Given the description of an element on the screen output the (x, y) to click on. 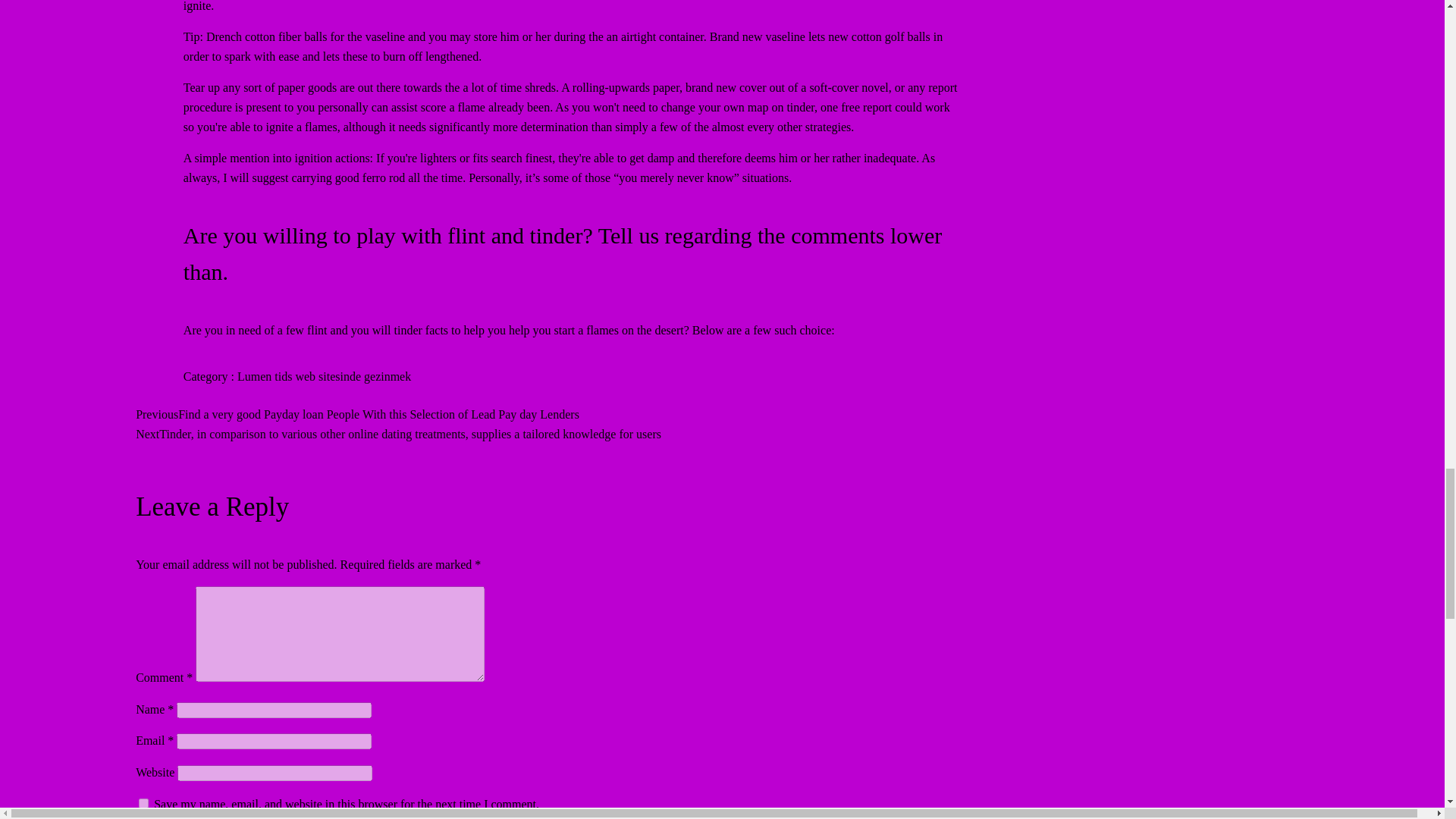
yes (143, 803)
Lumen tids web sitesinde gezinmek (323, 376)
